Given the description of an element on the screen output the (x, y) to click on. 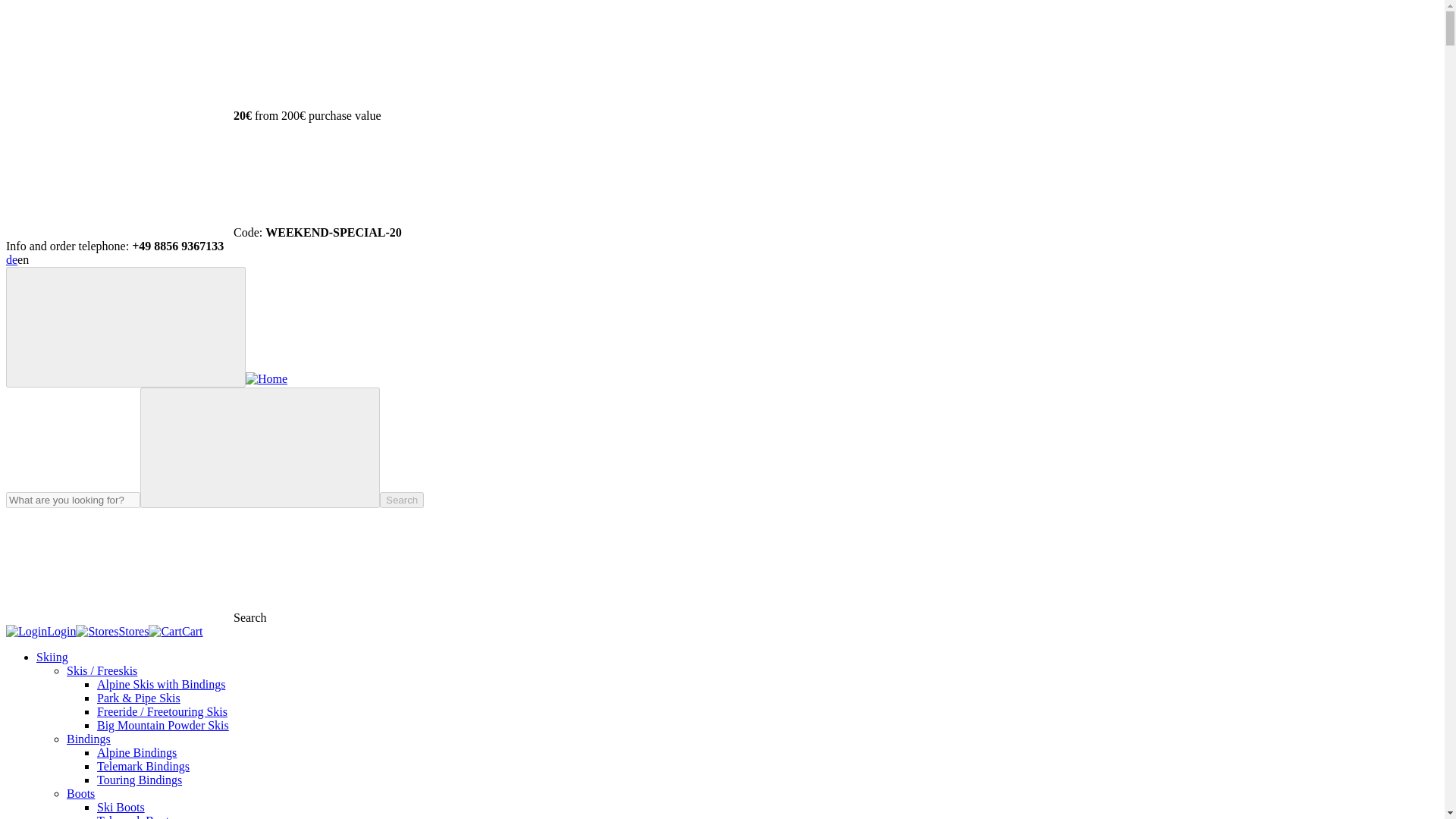
Search (401, 499)
Boots (80, 793)
Stores (111, 631)
Big Mountain Powder Skis (162, 725)
Alpine Bindings (136, 752)
Touring Bindings (139, 779)
Cart (175, 631)
Alpine Skis with Bindings (161, 684)
Skiing (52, 656)
Bindings (88, 738)
